Given the description of an element on the screen output the (x, y) to click on. 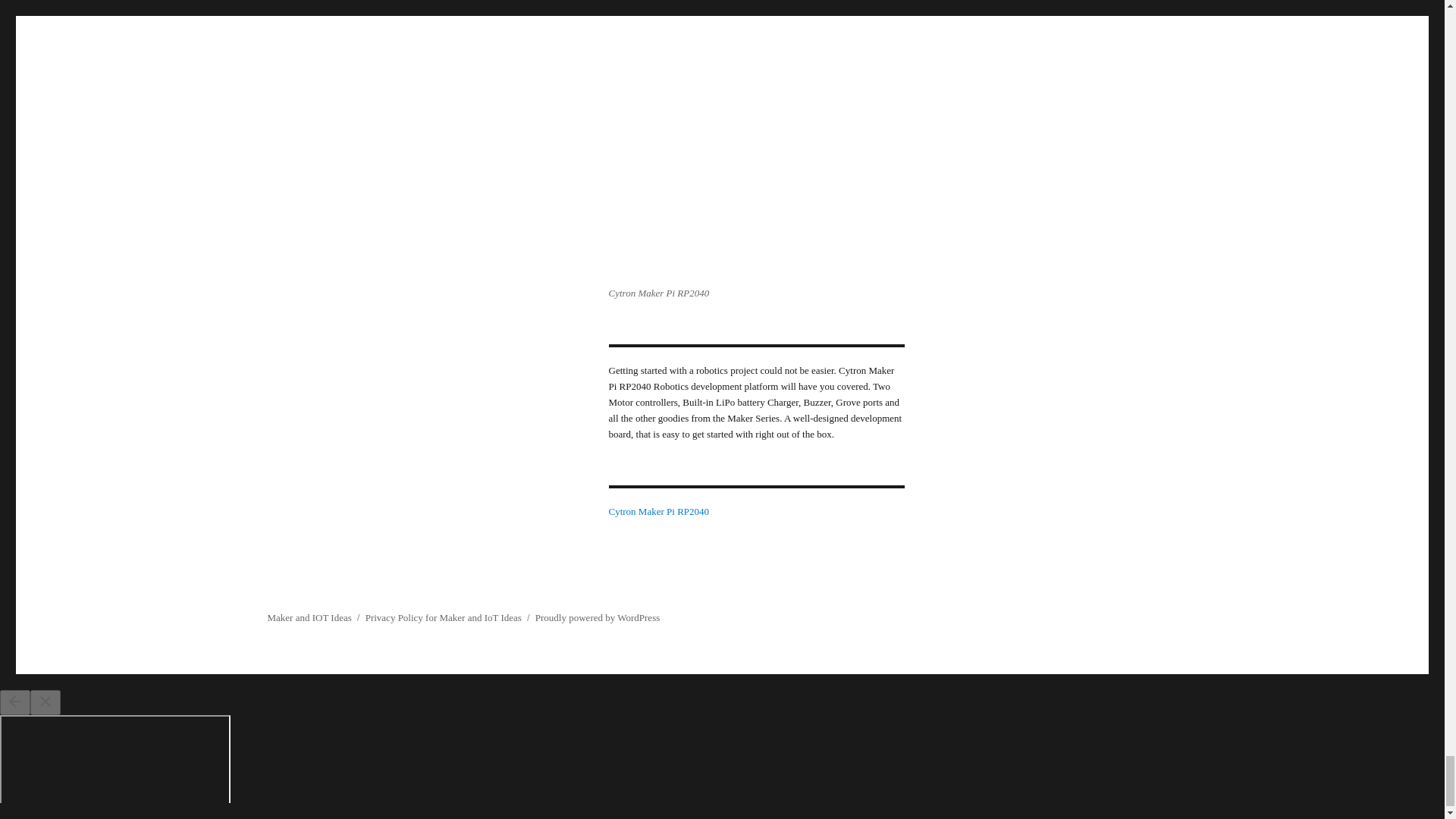
Cytron Maker Pi RP2040 (658, 511)
